Given the description of an element on the screen output the (x, y) to click on. 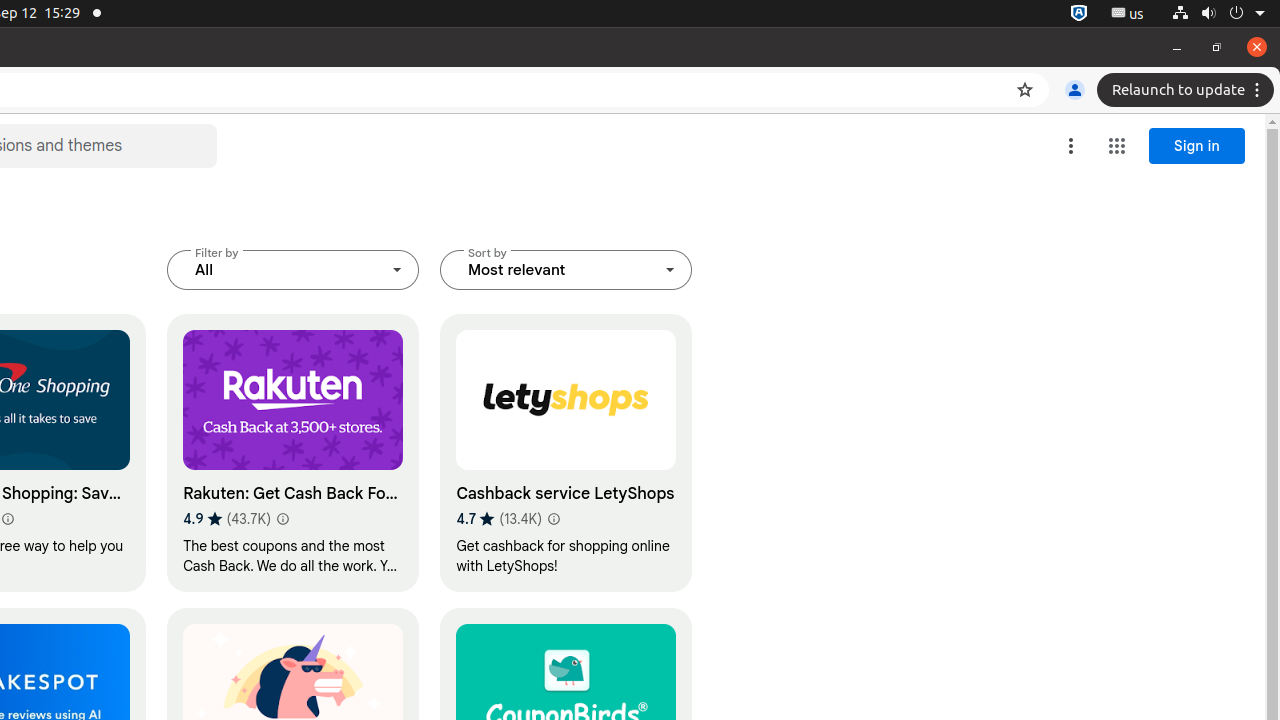
:1.21/StatusNotifierItem Element type: menu (1127, 13)
Learn more about results and reviews "Rakuten: Get Cash Back For Shopping" Element type: push-button (282, 519)
Sign in Element type: link (1197, 146)
Filter by ​All Element type: combo-box (293, 270)
You Element type: push-button (1075, 90)
